Given the description of an element on the screen output the (x, y) to click on. 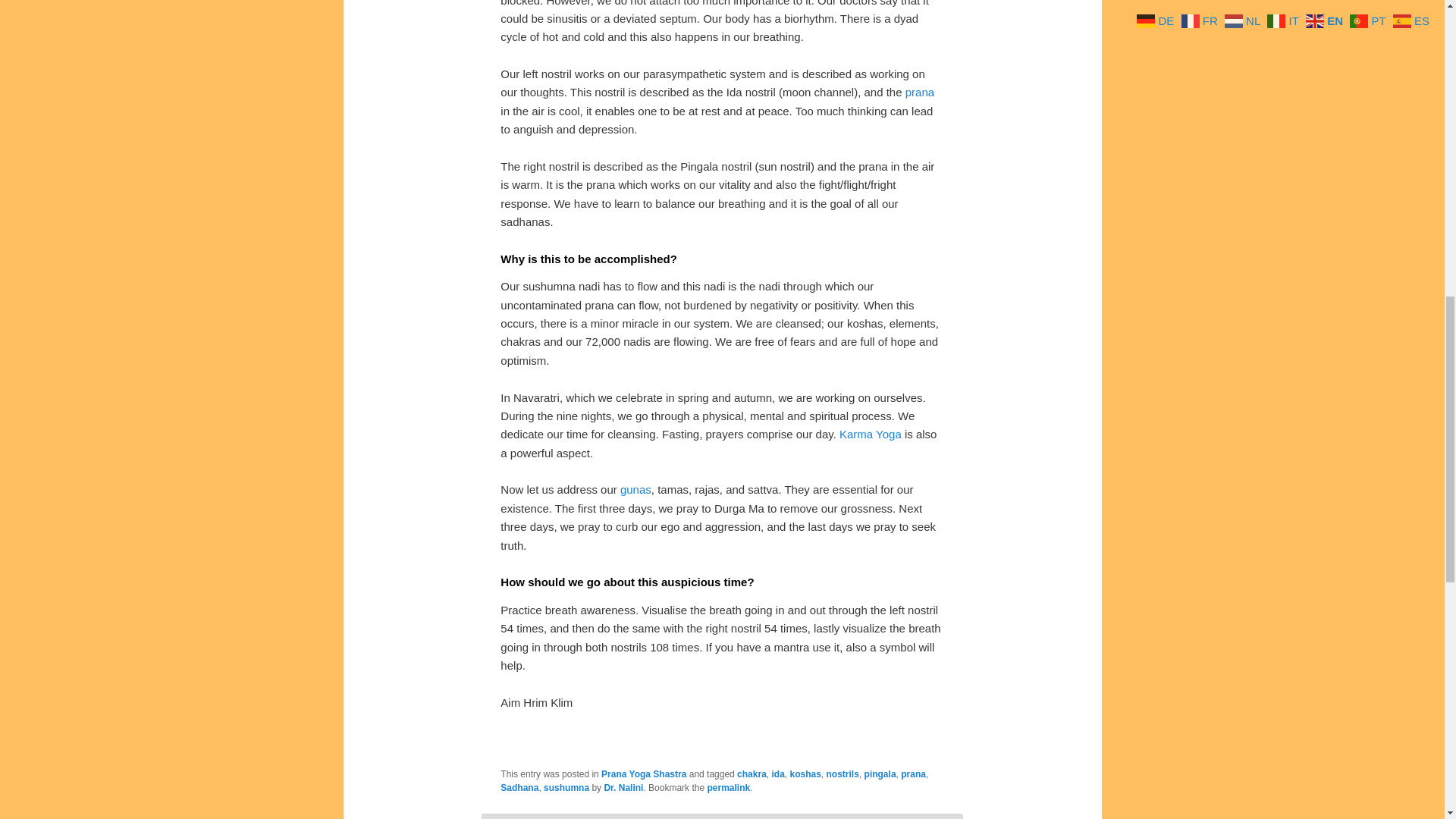
koshas (805, 774)
ida (777, 774)
Dr. Nalini (623, 787)
Karma (856, 433)
gunas (635, 489)
Prana Yoga Shastra (643, 774)
permalink (727, 787)
nostrils (843, 774)
Sadhana (519, 787)
Yoga (888, 433)
